Given the description of an element on the screen output the (x, y) to click on. 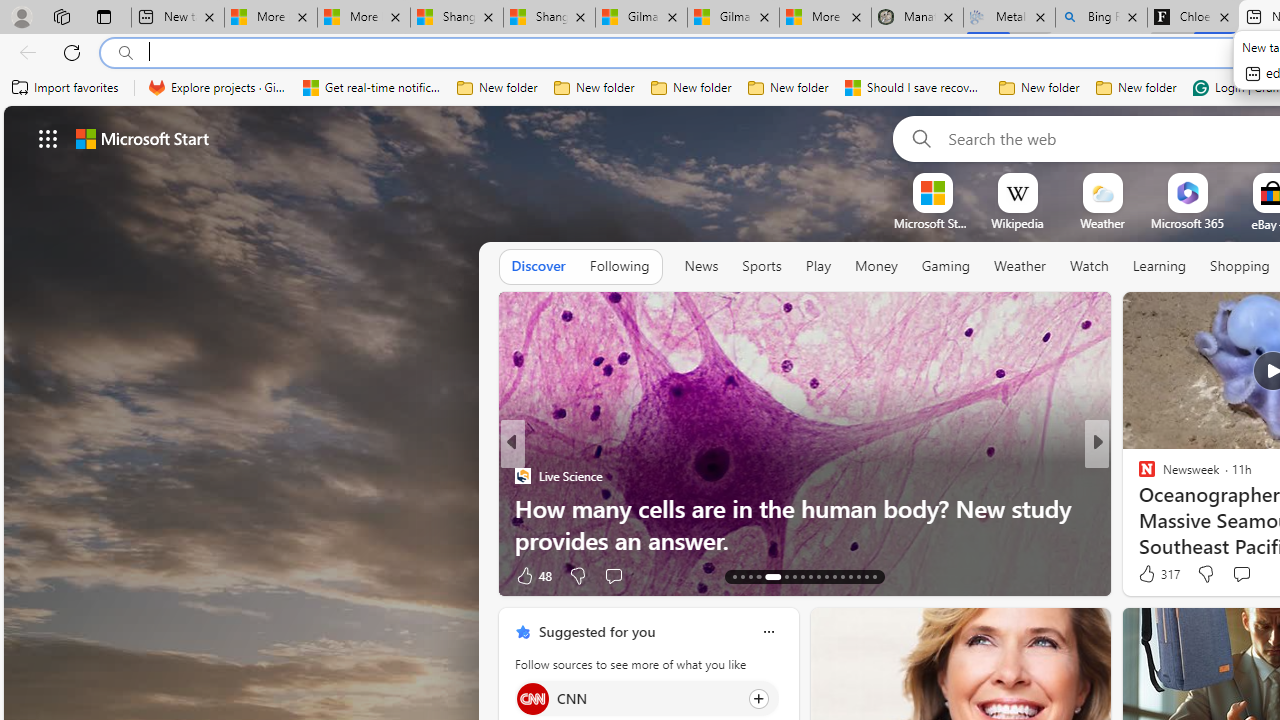
To get missing image descriptions, open the context menu. (932, 192)
ETNT Mind+Body (1138, 475)
248 Like (1151, 574)
USA TODAY College Sports Wire (1138, 475)
Shanghai, China weather forecast | Microsoft Weather (549, 17)
60 Like (1149, 574)
479 Like (1151, 574)
Wikipedia (1017, 223)
Money (875, 265)
Start the conversation (1240, 574)
View comments 5 Comment (1229, 575)
